Given the description of an element on the screen output the (x, y) to click on. 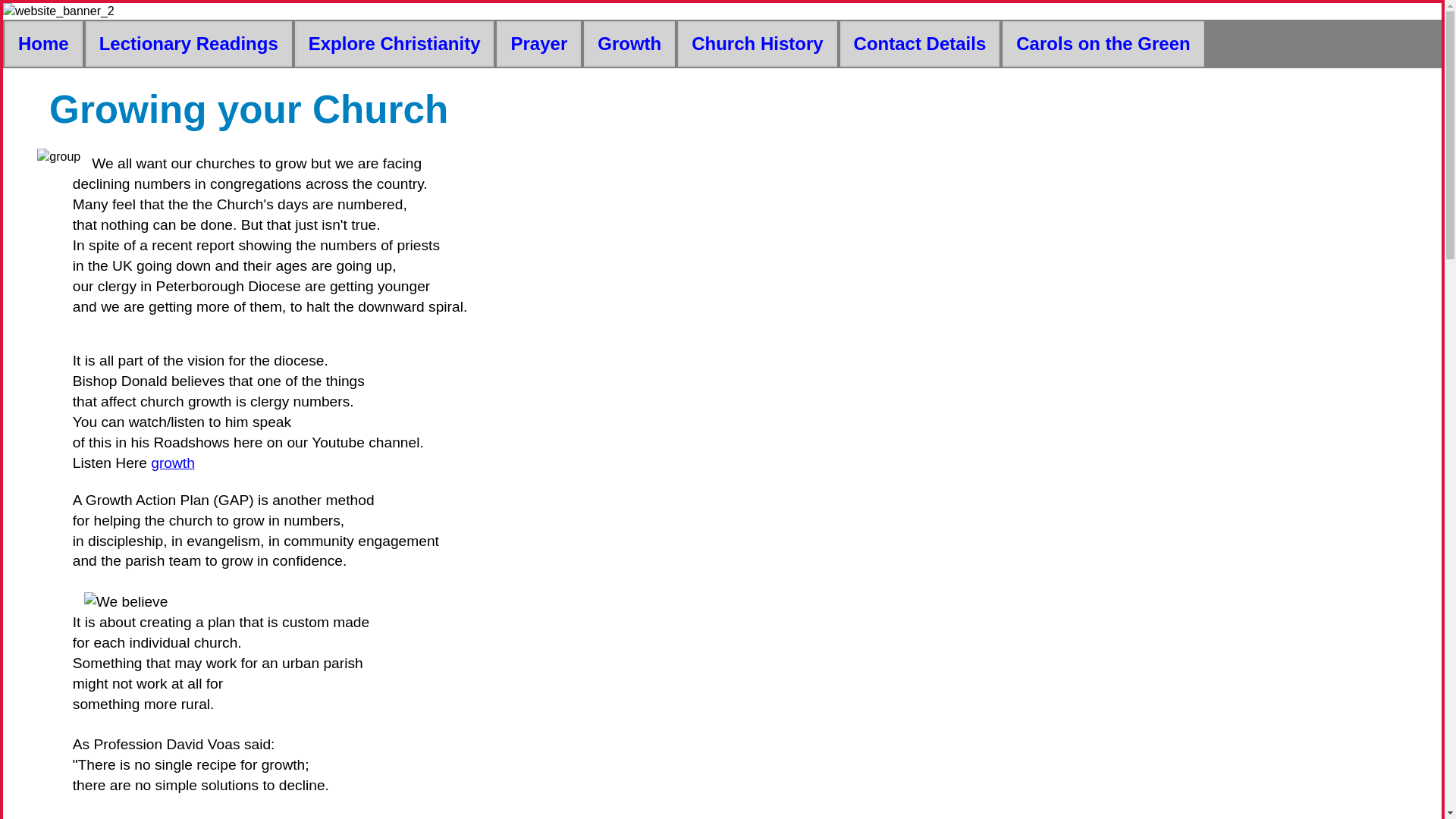
Lectionary Readings (188, 43)
Contact Details (920, 43)
Church History (756, 43)
Prayer (538, 43)
Explore Christianity (395, 43)
Growth (629, 43)
Carols on the Green (1103, 43)
growth (173, 462)
Home (43, 43)
